Given the description of an element on the screen output the (x, y) to click on. 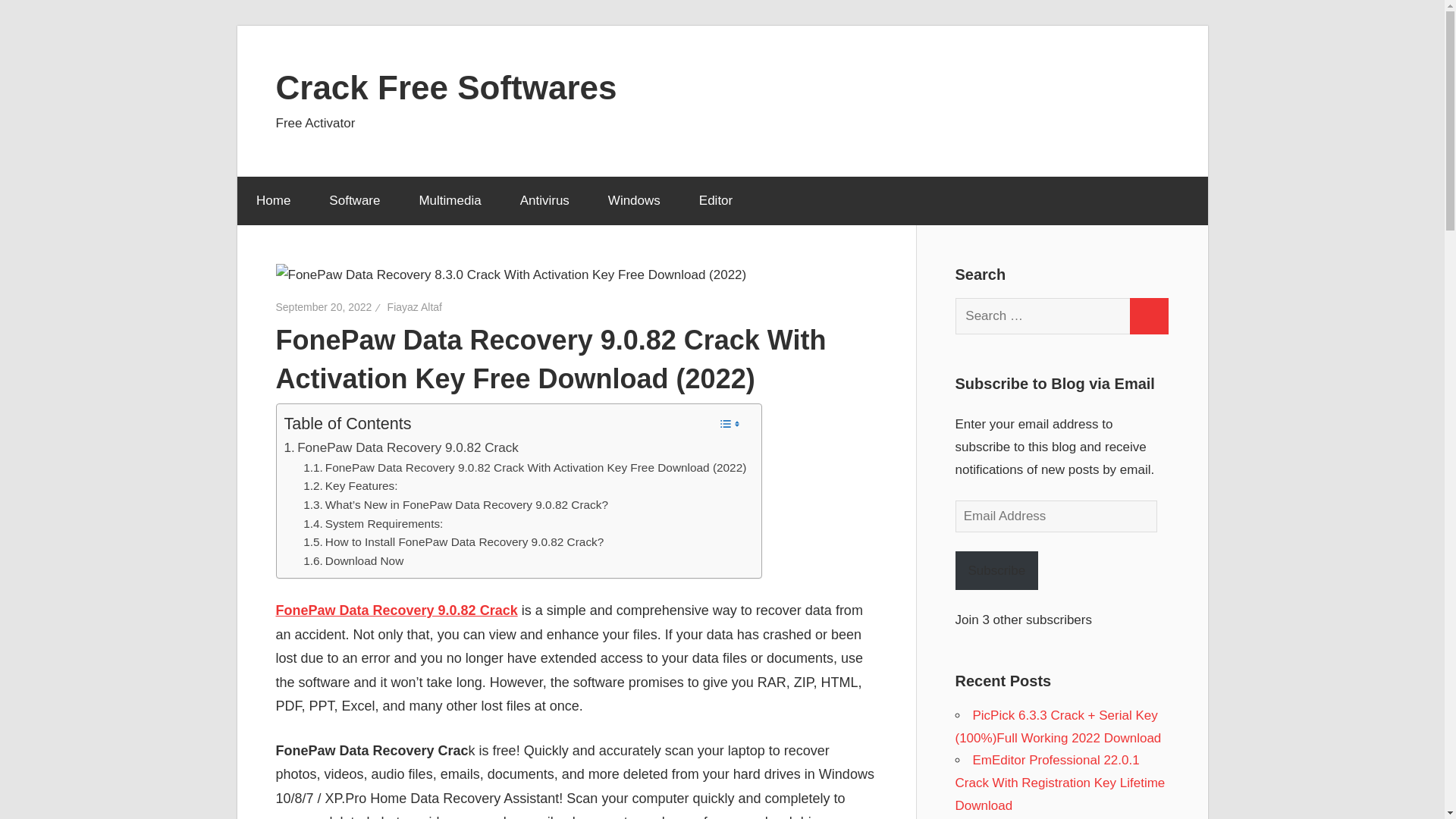
Software (354, 200)
Subscribe (997, 569)
FonePaw Data Recovery 9.0.82 Crack (400, 447)
Download Now (352, 561)
Key Features: (349, 486)
Search for: (1043, 316)
View all posts by Fiayaz Altaf (414, 306)
2:03 am (324, 306)
Fiayaz Altaf (414, 306)
